Given the description of an element on the screen output the (x, y) to click on. 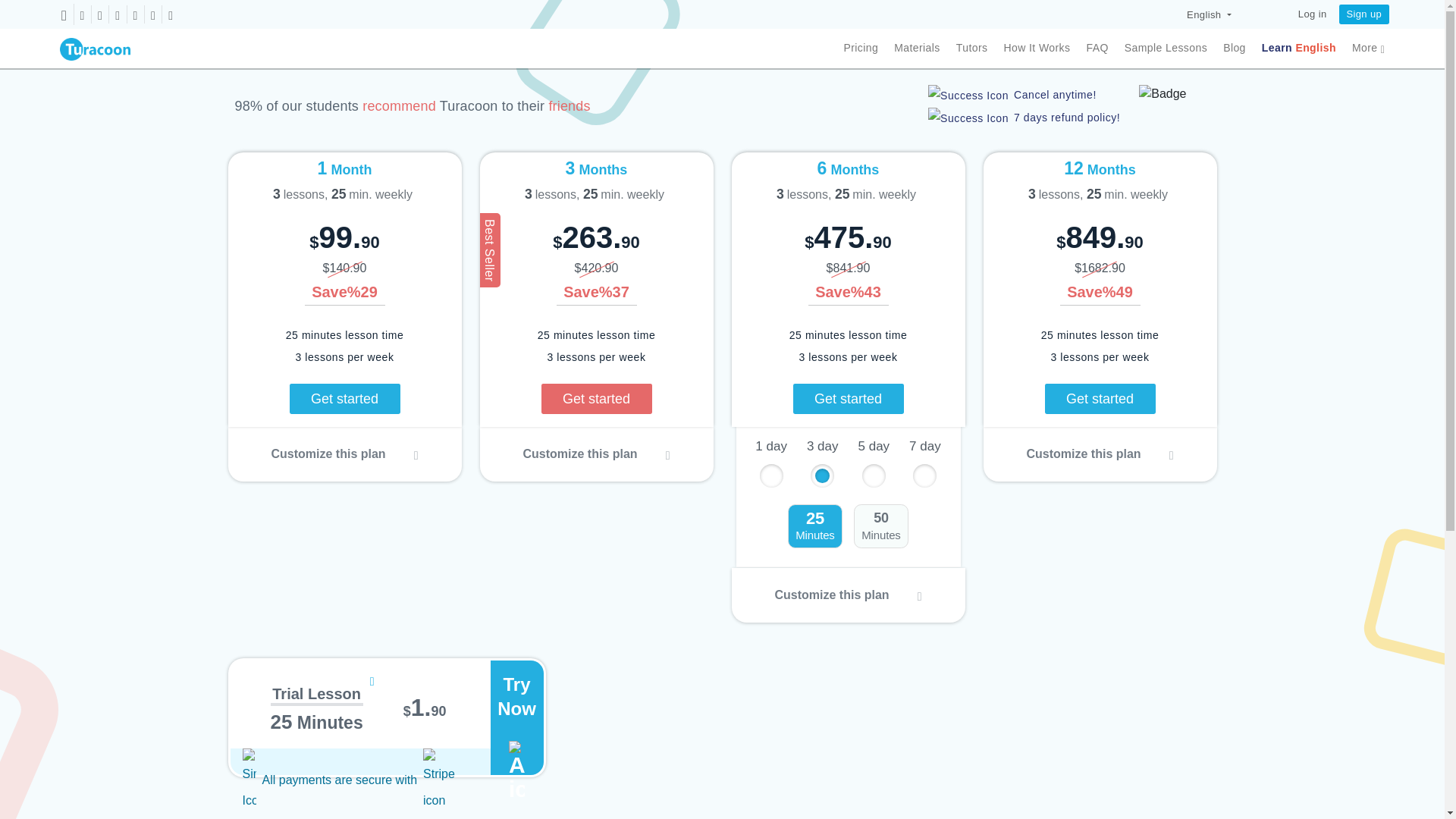
FAQ (1097, 48)
English (1208, 14)
Sample Lessons (1165, 48)
Tutors (972, 48)
Materials (916, 48)
Learn English (1299, 48)
More (1368, 48)
Pricing (860, 48)
Log in (1312, 14)
How It Works (1036, 48)
Sign up (1364, 14)
Blog (1234, 48)
